Given the description of an element on the screen output the (x, y) to click on. 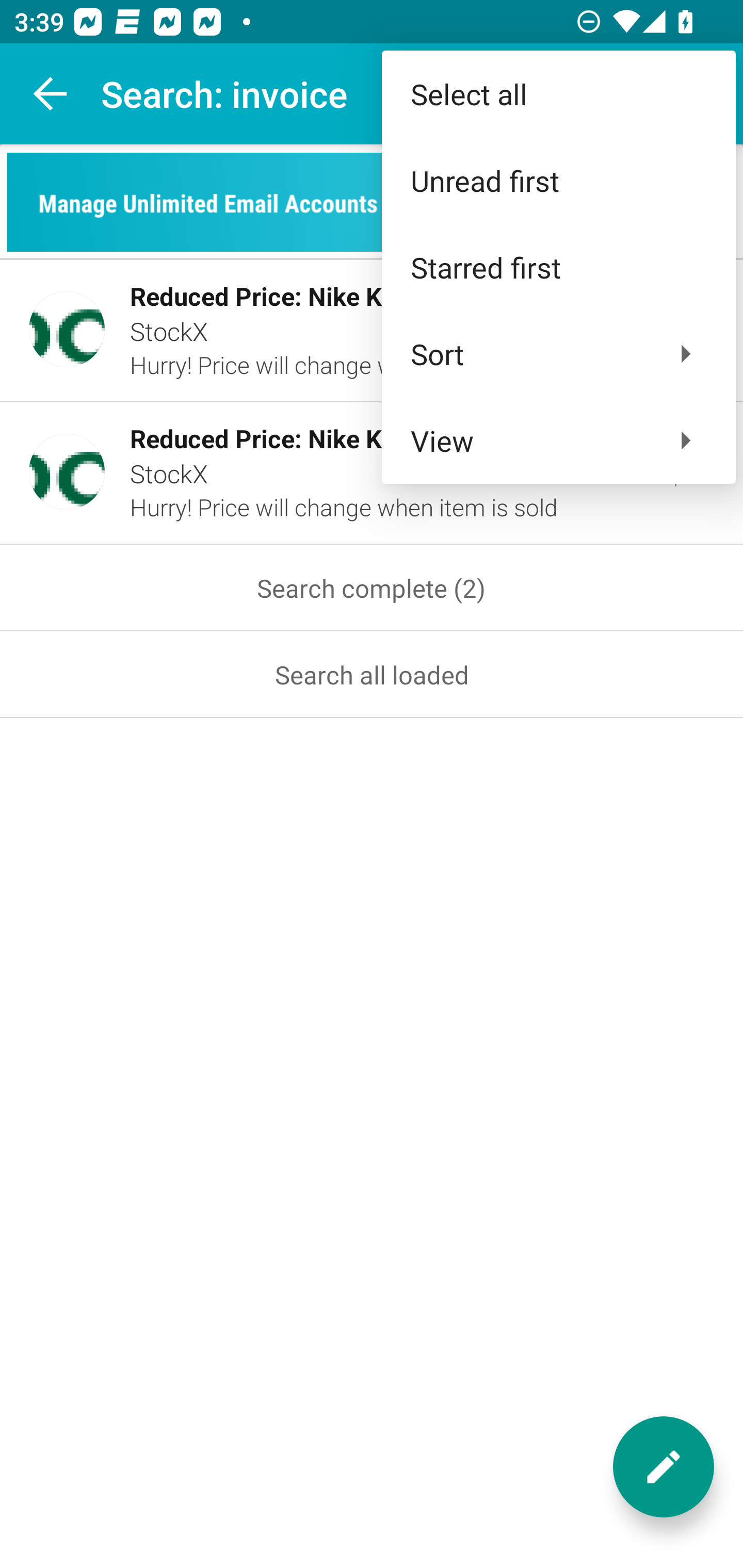
Select all (558, 93)
Unread first (558, 180)
Starred first (558, 267)
Sort (558, 353)
View (558, 440)
